Given the description of an element on the screen output the (x, y) to click on. 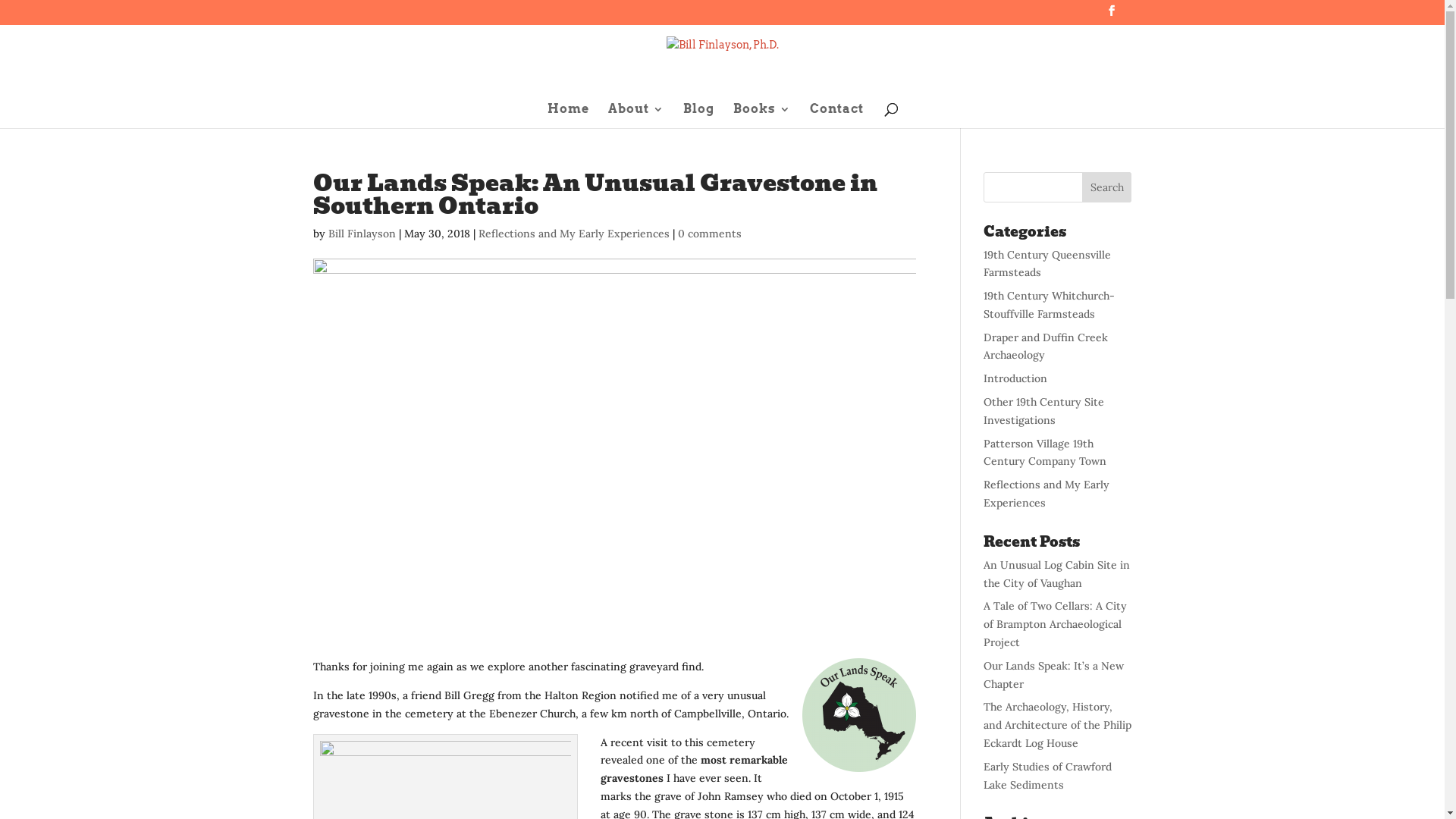
Reflections and My Early Experiences Element type: text (572, 232)
Early Studies of Crawford Lake Sediments Element type: text (1047, 775)
Introduction Element type: text (1015, 378)
An Unusual Log Cabin Site in the City of Vaughan Element type: text (1056, 573)
19th Century Whitchurch-Stouffville Farmsteads Element type: text (1048, 304)
Home Element type: text (568, 115)
Search Element type: text (1107, 186)
About Element type: text (636, 115)
Draper and Duffin Creek Archaeology Element type: text (1045, 346)
19th Century Queensville Farmsteads Element type: text (1046, 263)
Blog Element type: text (697, 115)
Reflections and My Early Experiences Element type: text (1046, 493)
Books Element type: text (761, 115)
Other 19th Century Site Investigations Element type: text (1043, 410)
0 comments Element type: text (709, 232)
Contact Element type: text (836, 115)
Patterson Village 19th Century Company Town Element type: text (1044, 452)
Bill Finlayson Element type: text (361, 232)
